Given the description of an element on the screen output the (x, y) to click on. 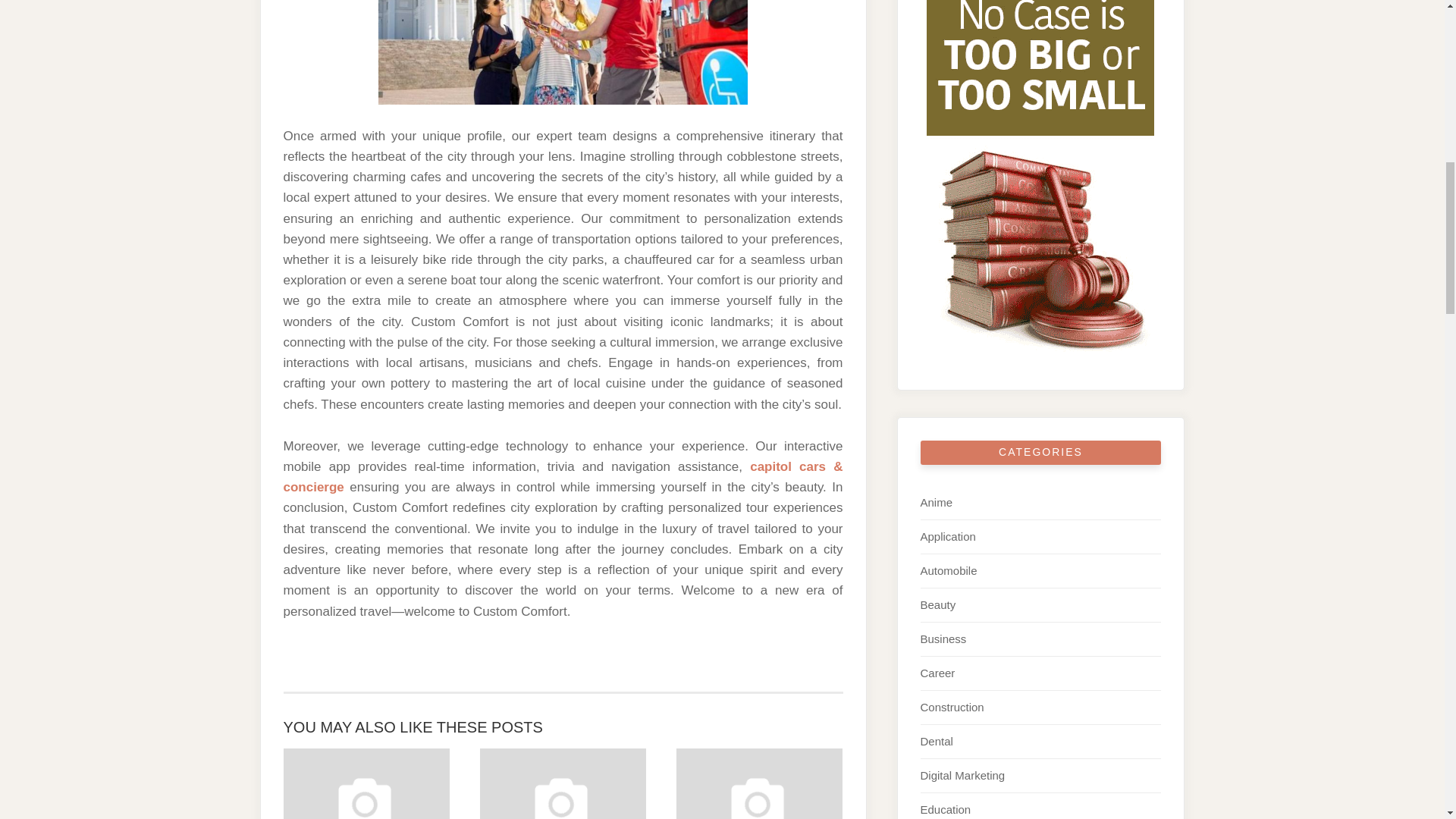
Construction (952, 707)
Career (937, 672)
Ways to Pick a Dependable Logistic Service Supplier Services (366, 783)
Finest Ideas and Suggestions When Purchasing a Massage Table (760, 783)
Anime (936, 502)
Automobile (948, 570)
Business (943, 638)
Beauty (938, 604)
Digital Marketing (963, 775)
Education (945, 809)
Application (947, 535)
Dental (936, 740)
Finest Ideas and Suggestions When Purchasing a Massage Table (760, 783)
Ways to Pick a Dependable Logistic Service Supplier Services (366, 783)
